Given the description of an element on the screen output the (x, y) to click on. 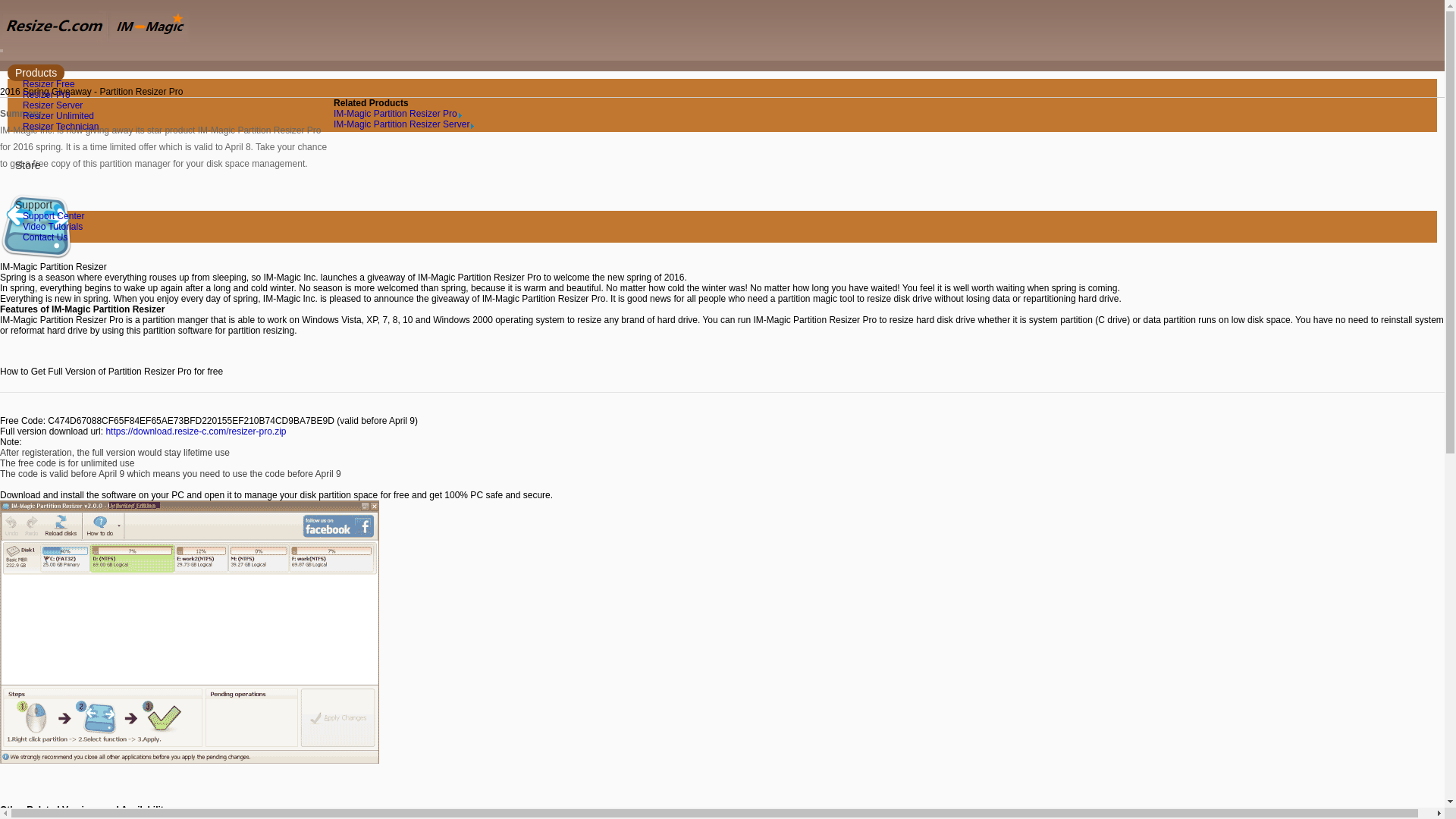
resizer pro (194, 430)
Resizer Technician (61, 126)
Resizer Free (48, 84)
Support Center (53, 216)
Support (33, 204)
Resizer Server (52, 104)
Contact Us (44, 237)
Video Tutorials (52, 226)
Resizer Pro (46, 94)
IM-Magic Partition Resizer Pro (397, 113)
Resizer Unlimited (58, 115)
Products (35, 72)
Store (27, 165)
IM-Magic Partition Resizer Server (403, 123)
